Given the description of an element on the screen output the (x, y) to click on. 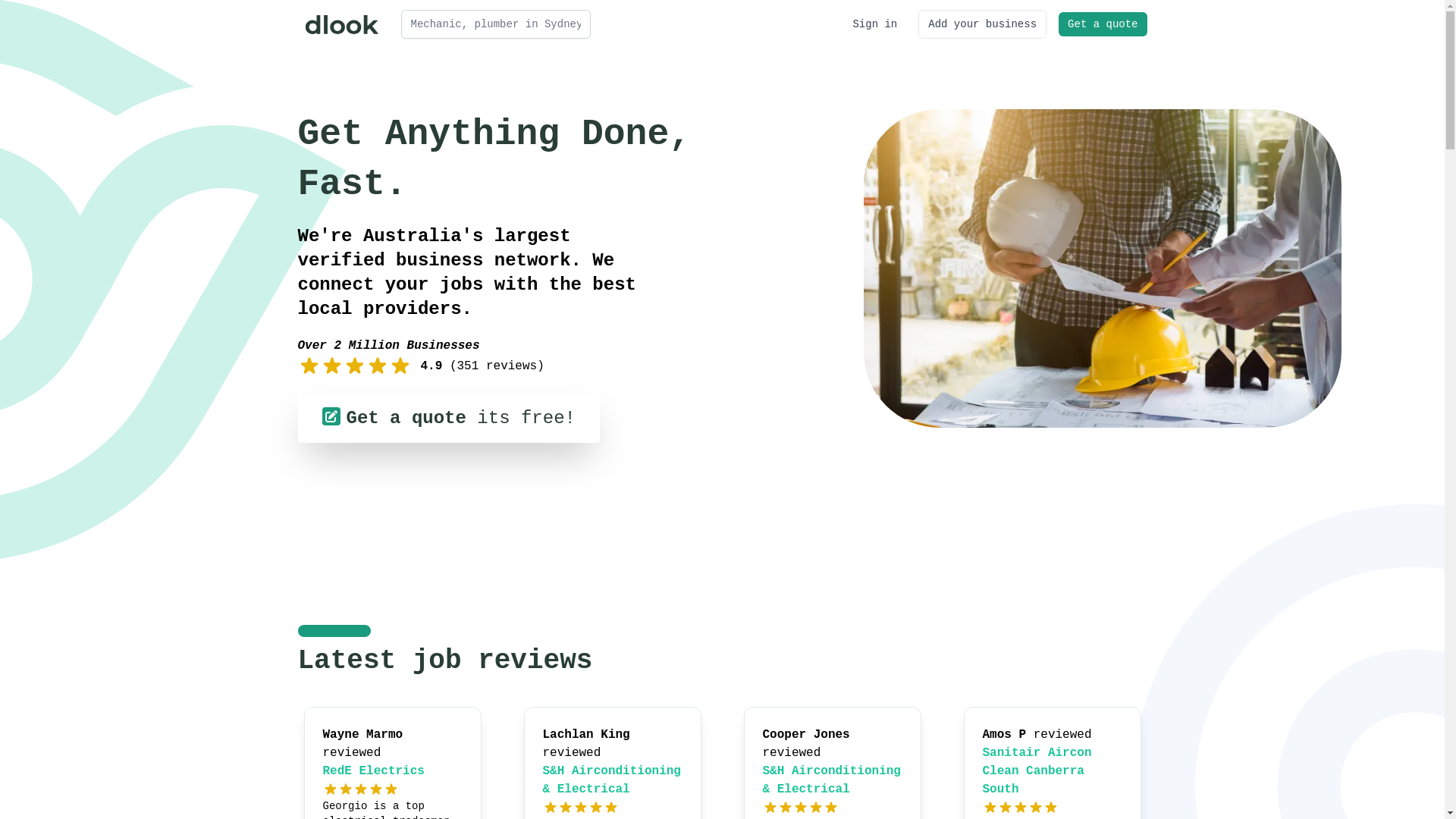
Get a quote its free! Element type: text (448, 417)
S&H Airconditioning & Electrical Element type: text (611, 780)
Sanitair Aircon Clean Canberra South Element type: text (1037, 771)
RedE Electrics Element type: text (373, 771)
S&H Airconditioning & Electrical Element type: text (831, 780)
Sign in Element type: text (874, 23)
Add your business Element type: text (982, 23)
Get a quote Element type: text (1102, 24)
